Given the description of an element on the screen output the (x, y) to click on. 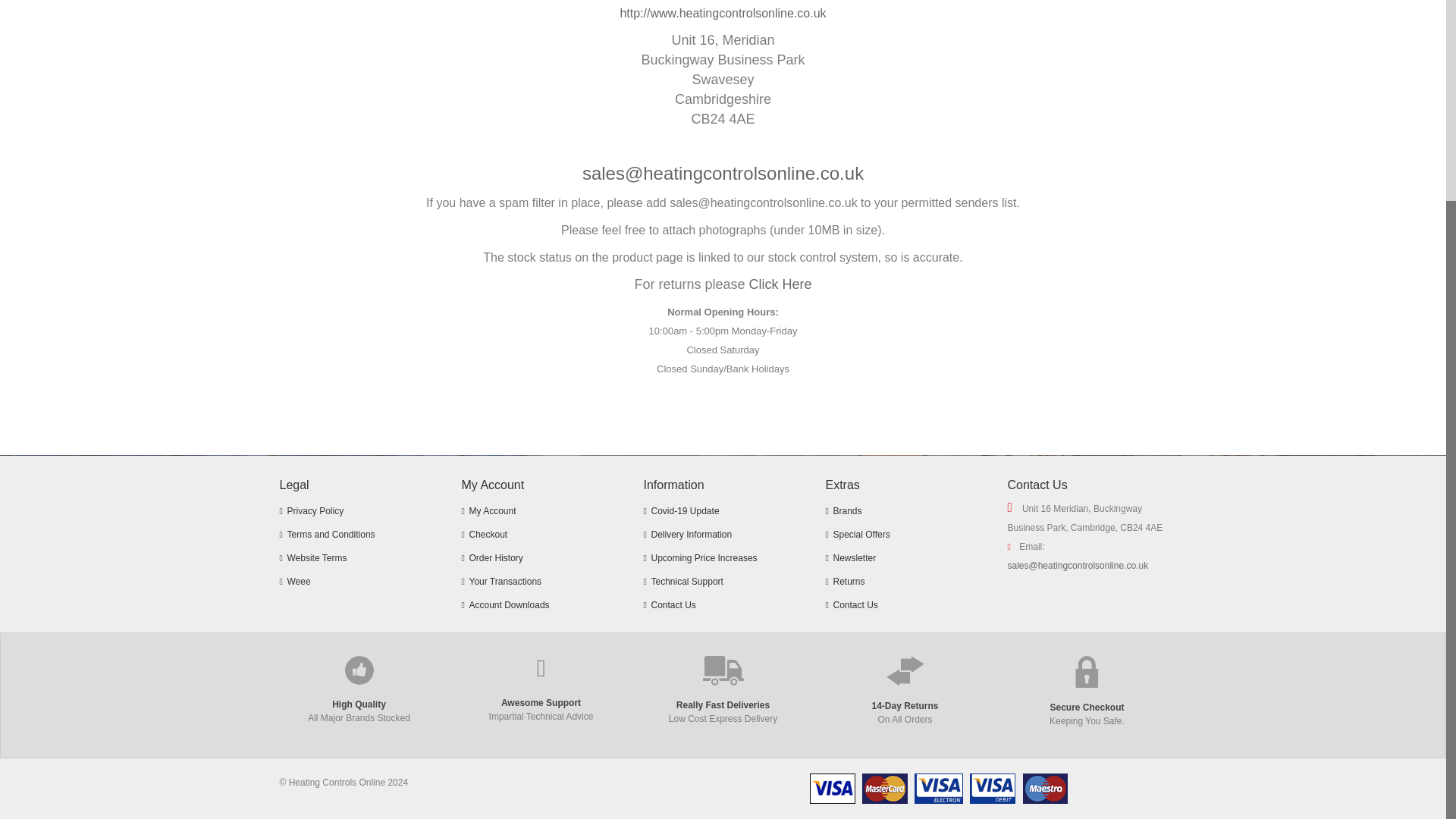
Delivery Information (722, 535)
About Us (540, 558)
Privacy Policy (540, 605)
Returns (904, 581)
Technical Support (722, 581)
Help Center (540, 581)
FAQ (540, 511)
Newsletter (904, 558)
Contact Us (540, 535)
Contact Us (722, 605)
Upcoming Price Increases (722, 558)
Special Offers (904, 535)
Covid-19 Update (722, 511)
Contact Us (904, 605)
Brands (904, 511)
